Given the description of an element on the screen output the (x, y) to click on. 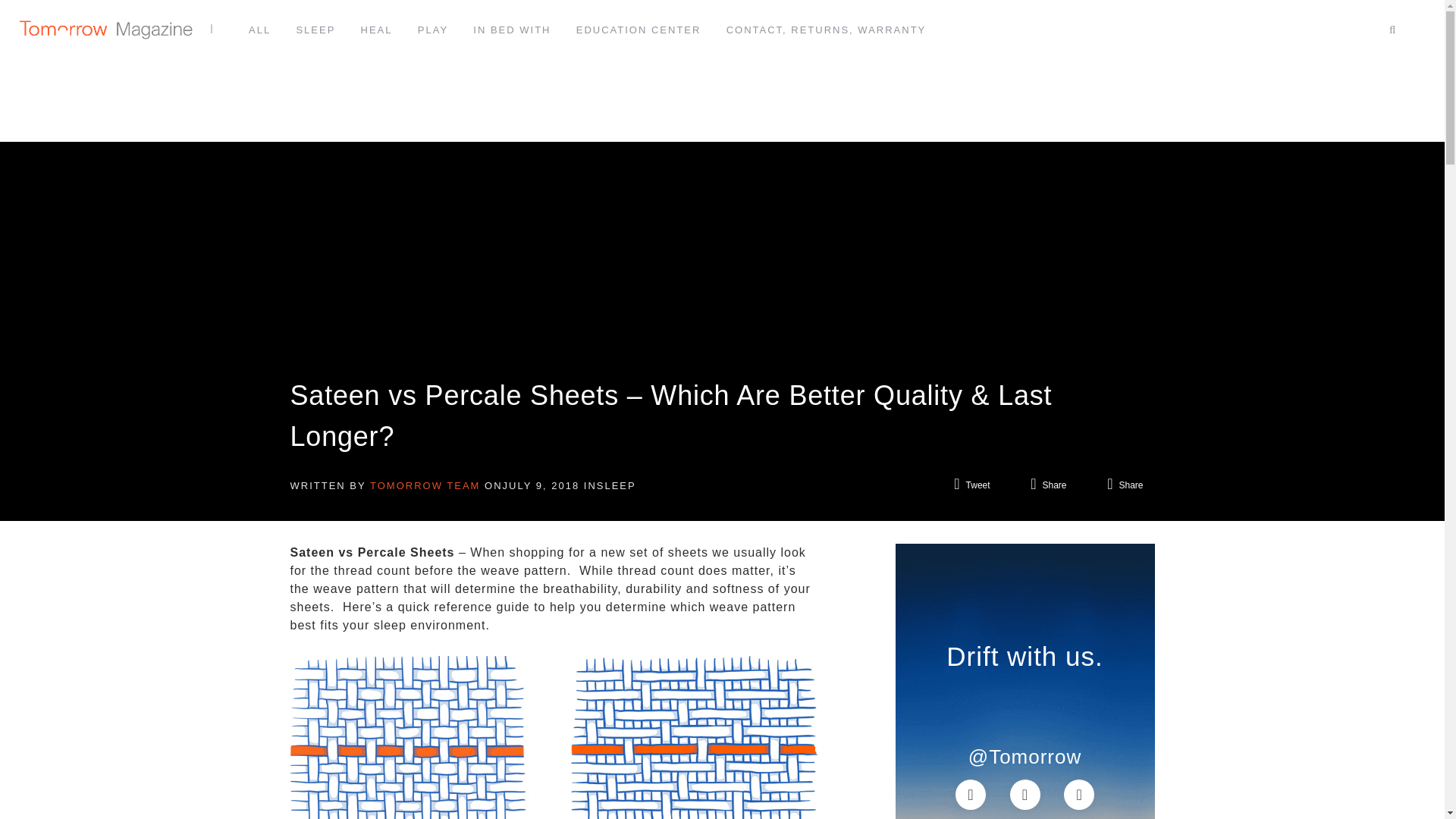
Follow Me (1079, 793)
PLAY (432, 30)
ALL (259, 30)
Posts by Tomorrow Team (424, 485)
IN BED WITH (511, 30)
Share this on Facebook (1048, 483)
CONTACT, RETURNS, WARRANTY (826, 30)
twitter (1079, 793)
Tweet (971, 483)
Tweet this on Twitter (971, 483)
EDUCATION CENTER (638, 30)
Instagram (969, 793)
Friend me on Facebook (1025, 793)
Search (1346, 65)
SLEEP (314, 30)
